Given the description of an element on the screen output the (x, y) to click on. 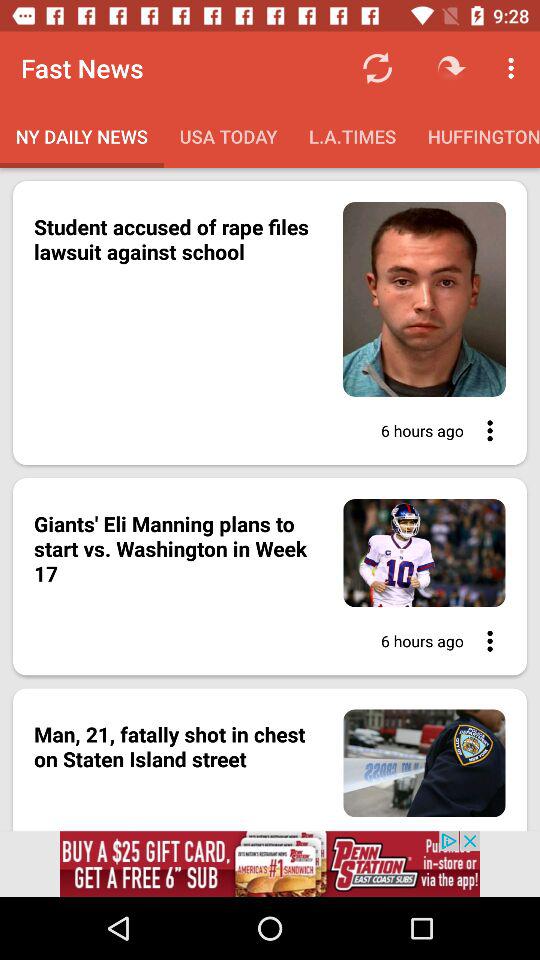
open advertisement (270, 864)
